Given the description of an element on the screen output the (x, y) to click on. 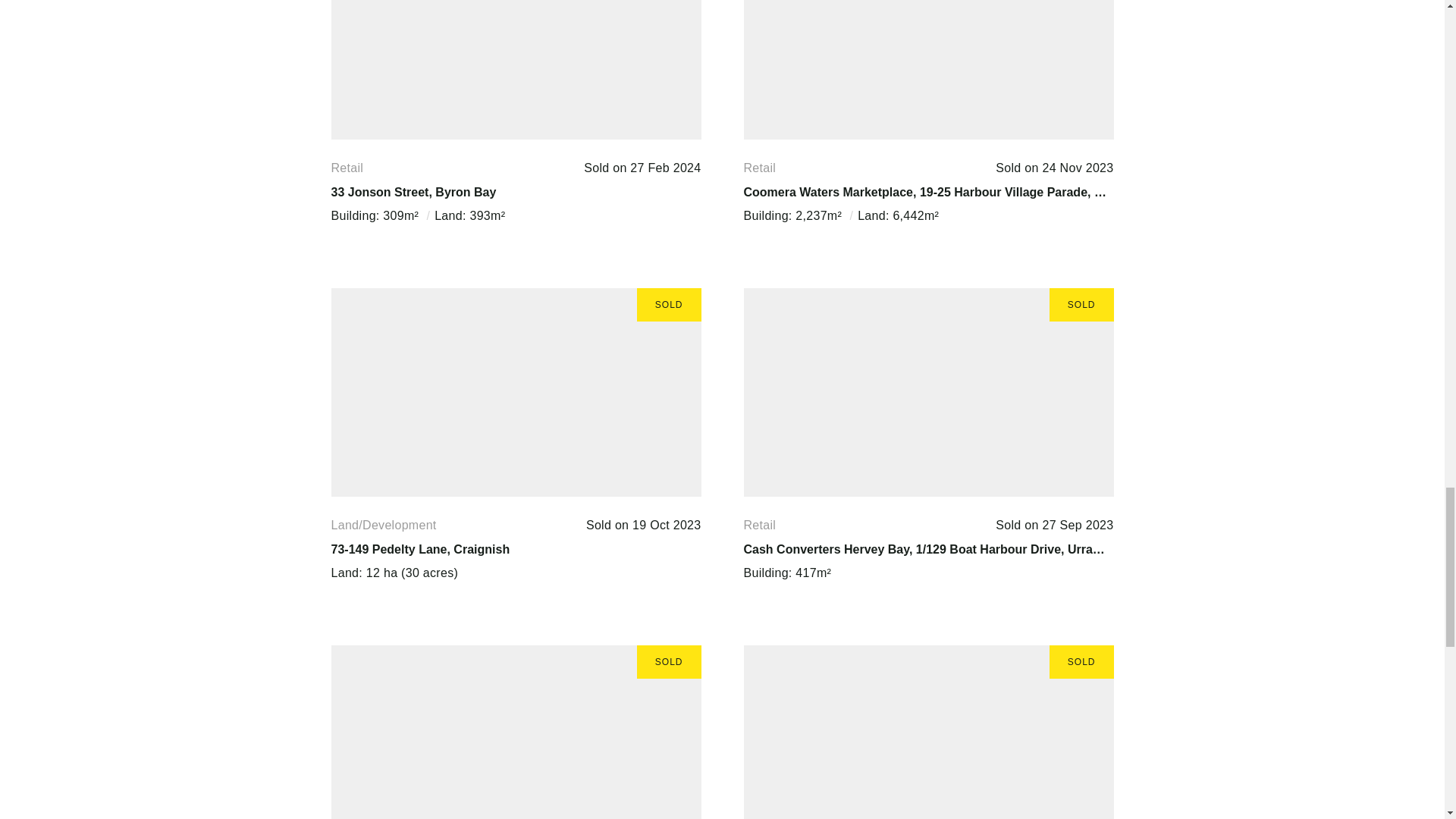
SOLD (515, 732)
SOLD (515, 70)
SOLD (927, 70)
73-149 Pedelty Lane, Craignish (419, 549)
SOLD (927, 392)
SOLD (515, 392)
SOLD (927, 732)
33 Jonson Street, Byron Bay (413, 192)
